Given the description of an element on the screen output the (x, y) to click on. 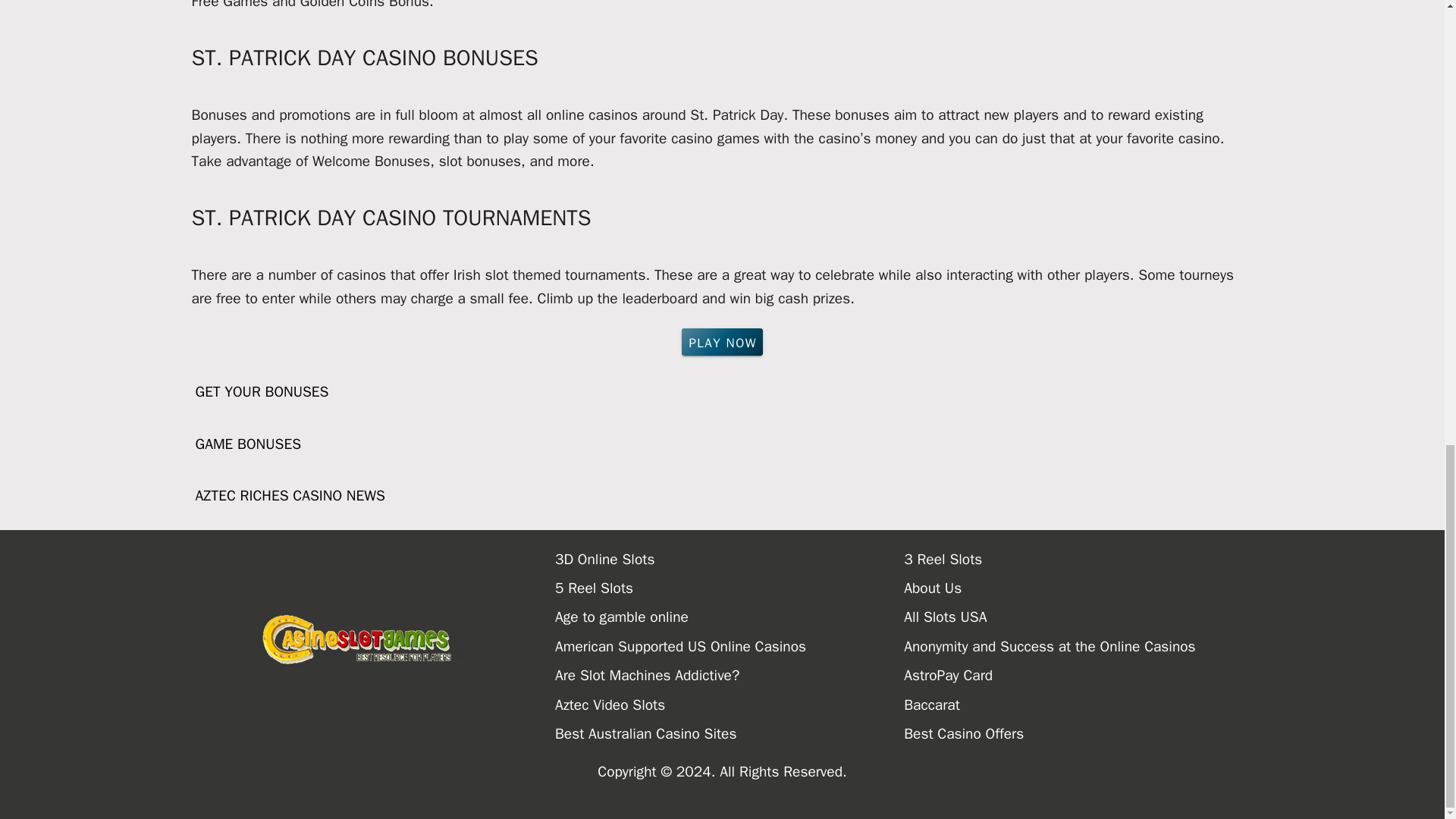
Aztec Video Slots (729, 705)
3 Reel Slots (1078, 559)
Best Australian Casino Sites (729, 733)
American Supported US Online Casinos (729, 646)
Are Slot Machines Addictive? (729, 675)
PLAY NOW (721, 341)
3D Online Slots (729, 559)
About Us (1078, 588)
Baccarat (1078, 705)
Age to gamble online (729, 616)
All Slots USA (1078, 616)
5 Reel Slots (729, 588)
AstroPay Card (1078, 675)
Anonymity and Success at the Online Casinos (1078, 646)
Best Casino Offers (1078, 733)
